Given the description of an element on the screen output the (x, y) to click on. 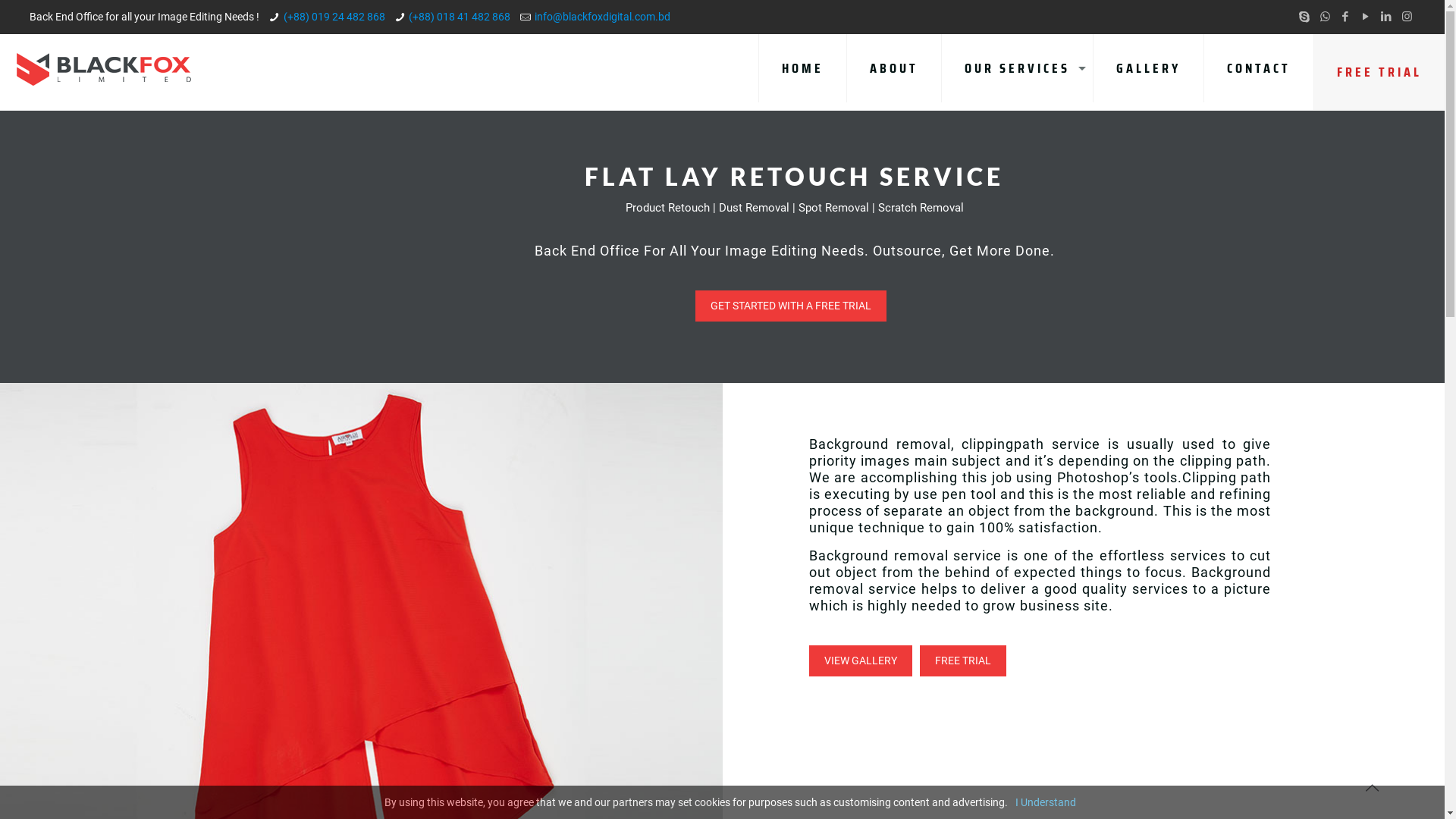
CONTACT Element type: text (1258, 68)
WhatsApp Element type: hover (1325, 16)
VIEW GALLERY Element type: text (860, 660)
LinkedIn Element type: hover (1386, 16)
GALLERY Element type: text (1148, 68)
Skype Element type: hover (1304, 16)
BLACKFOX LIMITED Element type: hover (103, 68)
Facebook Element type: hover (1345, 16)
Instagram Element type: hover (1407, 16)
GET STARTED WITH A FREE TRIAL Element type: text (790, 305)
YouTube Element type: hover (1366, 16)
(+88) 018 41 482 868 Element type: text (459, 16)
HOME Element type: text (802, 68)
FREE TRIAL Element type: text (962, 660)
info@blackfoxdigital.com.bd Element type: text (602, 16)
OUR SERVICES Element type: text (1017, 68)
(+88) 019 24 482 868 Element type: text (334, 16)
I Understand Element type: text (1044, 802)
ABOUT Element type: text (894, 68)
FREE TRIAL Element type: text (1378, 71)
